Given the description of an element on the screen output the (x, y) to click on. 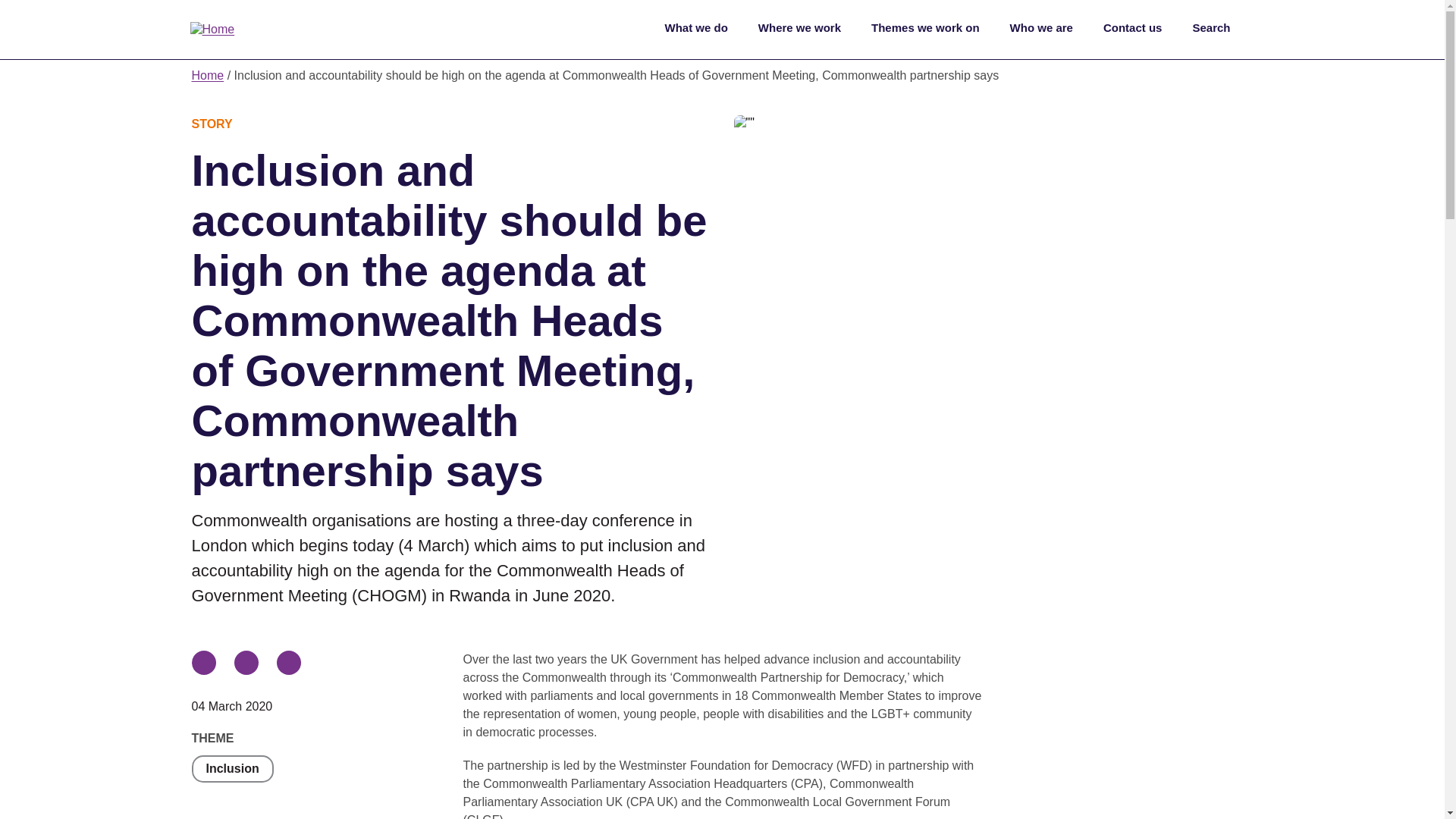
Who we are (1041, 29)
Themes we work on (925, 29)
Contact us (1133, 29)
Where we work (799, 29)
Search (1219, 29)
What we do (695, 29)
